Given the description of an element on the screen output the (x, y) to click on. 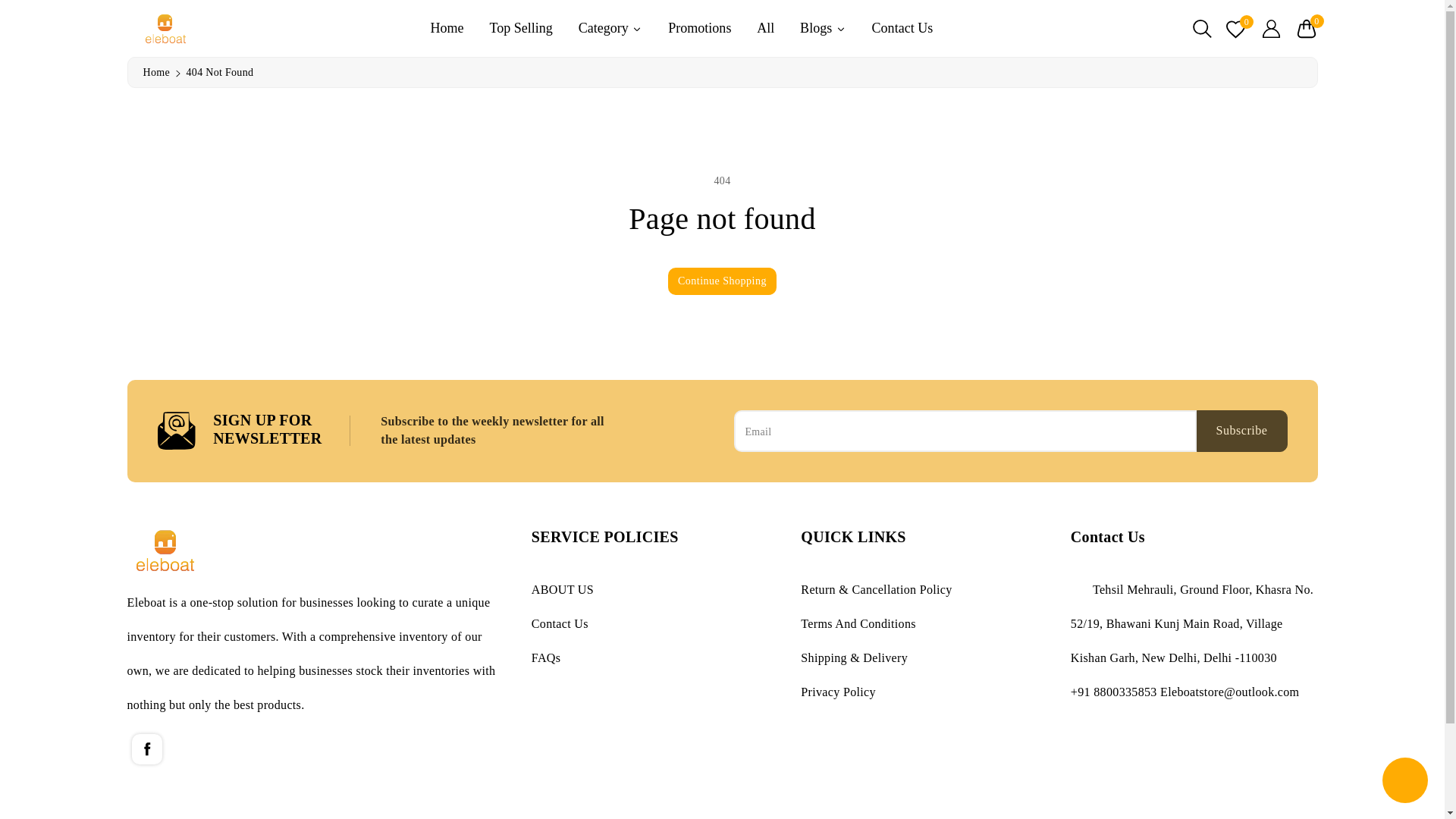
Promotions (699, 28)
Contact Us (902, 28)
Home (155, 71)
Blogs (822, 28)
Skip To Content (9, 6)
Shopify online store chat (1404, 781)
Top Selling (520, 28)
Category (610, 28)
